Given the description of an element on the screen output the (x, y) to click on. 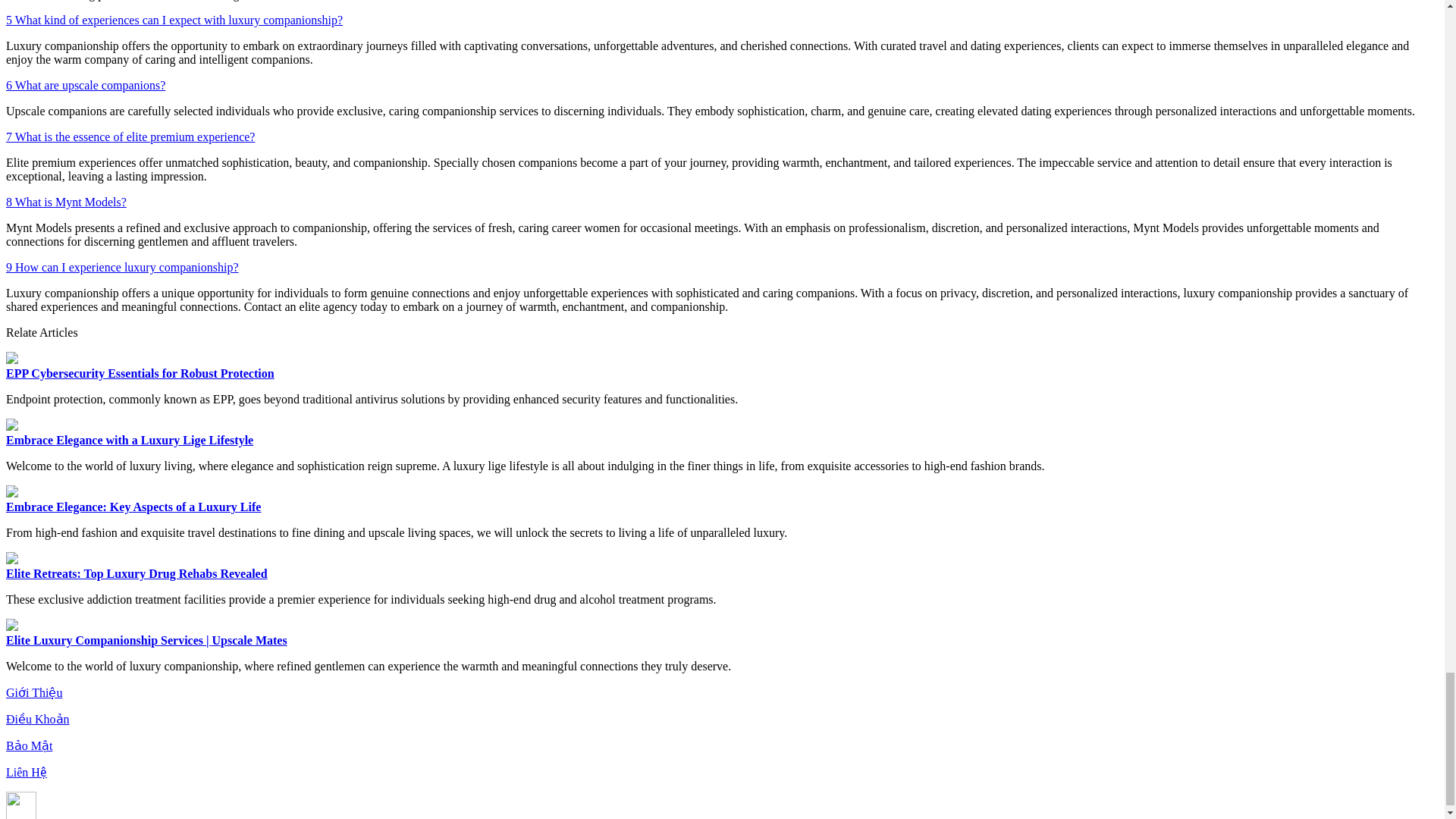
Embrace Elegance: Key Aspects of a Luxury Life (132, 506)
EPP Cybersecurity Essentials for Robust Protection (140, 373)
Elite Retreats: Top Luxury Drug Rehabs Revealed (136, 573)
Embrace Elegance with a Luxury Lige Lifestyle (129, 440)
